Given the description of an element on the screen output the (x, y) to click on. 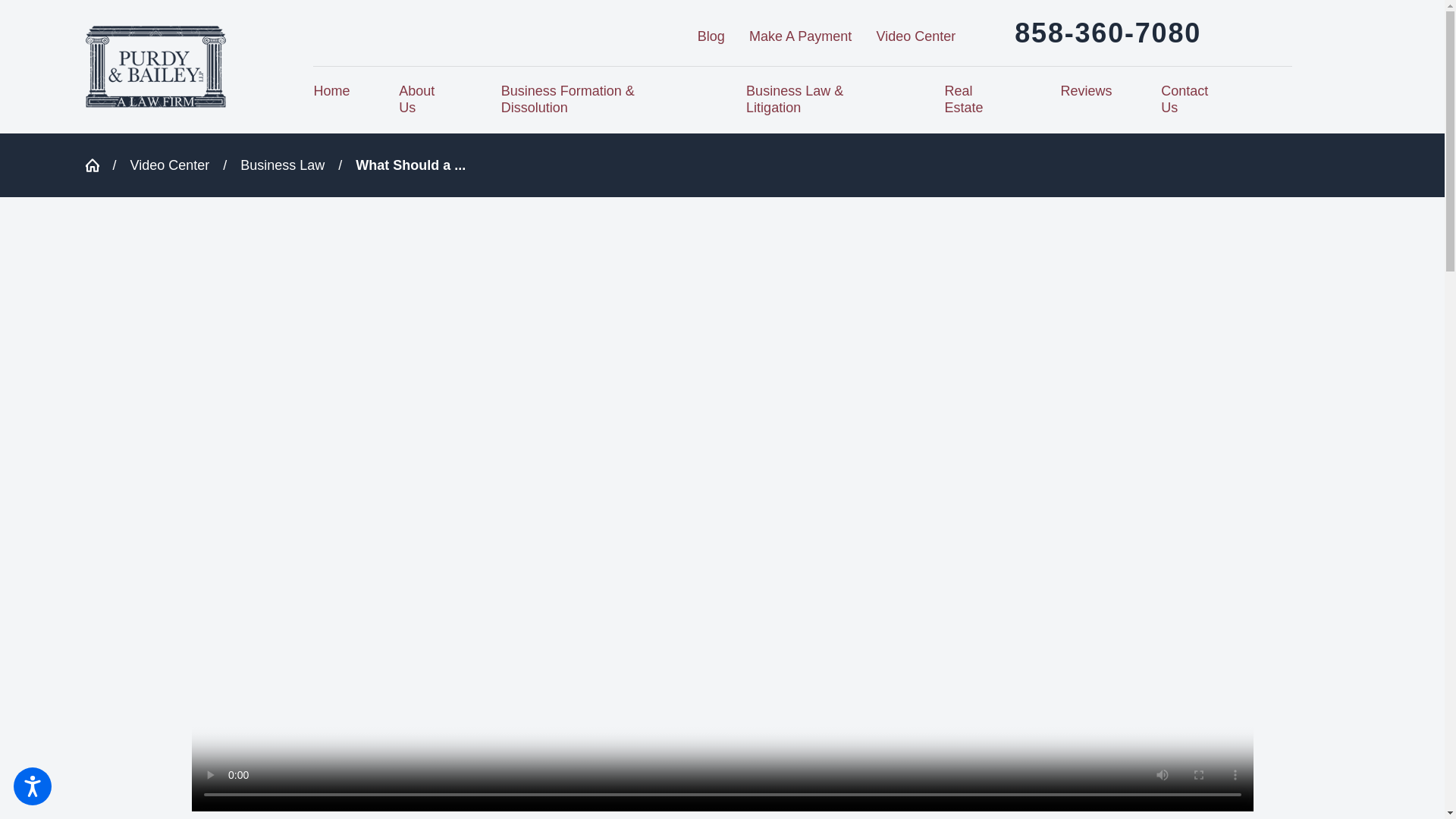
Make A Payment (800, 36)
858-360-7080 (1107, 32)
Business Law (282, 165)
Video Center (170, 165)
Blog (711, 36)
Real Estate (977, 99)
Contact Us (1192, 99)
Video Center (916, 36)
Open the accessibility options menu (31, 786)
Reviews (1085, 91)
